Given the description of an element on the screen output the (x, y) to click on. 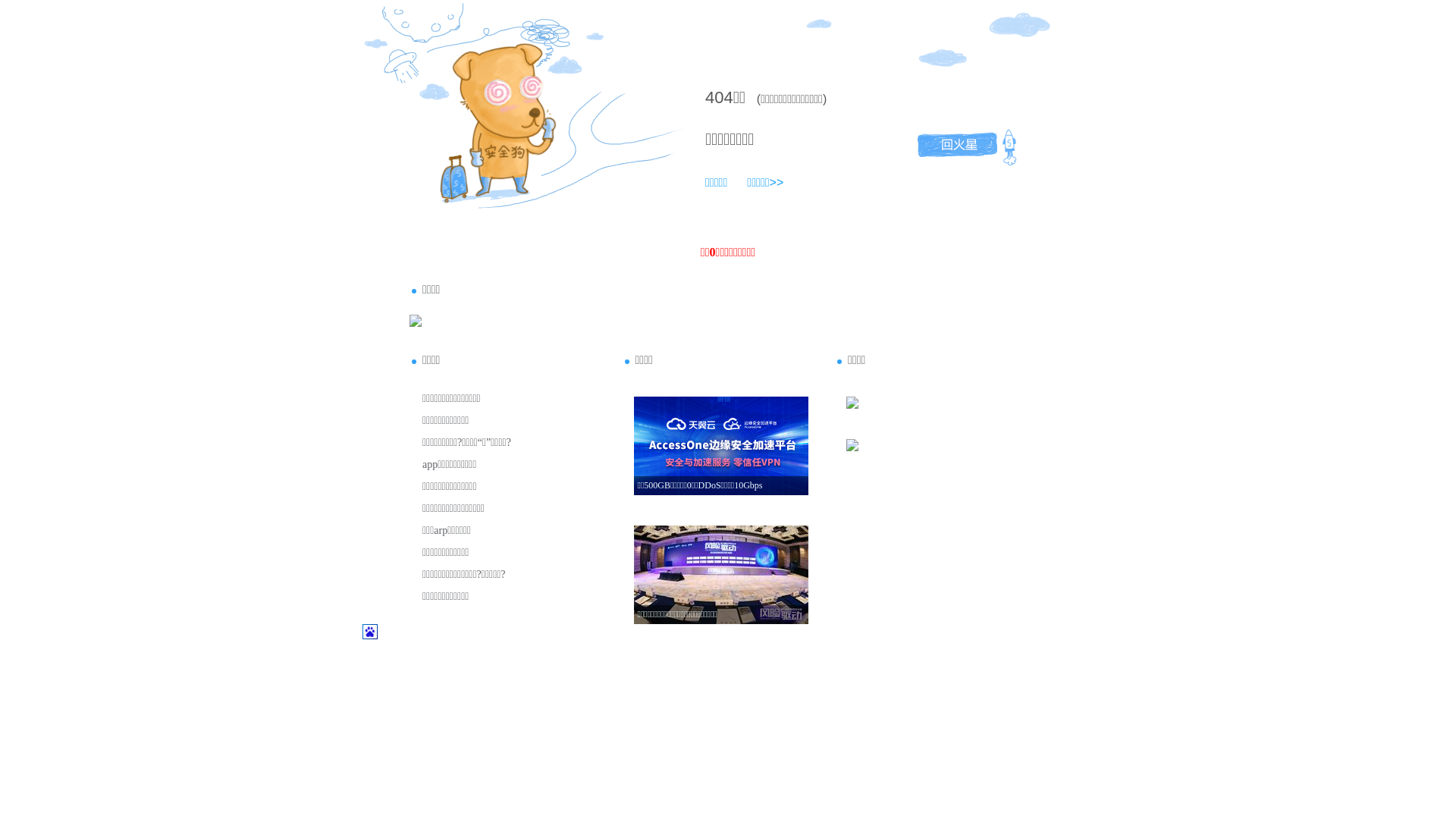
404 Element type: text (719, 96)
